Given the description of an element on the screen output the (x, y) to click on. 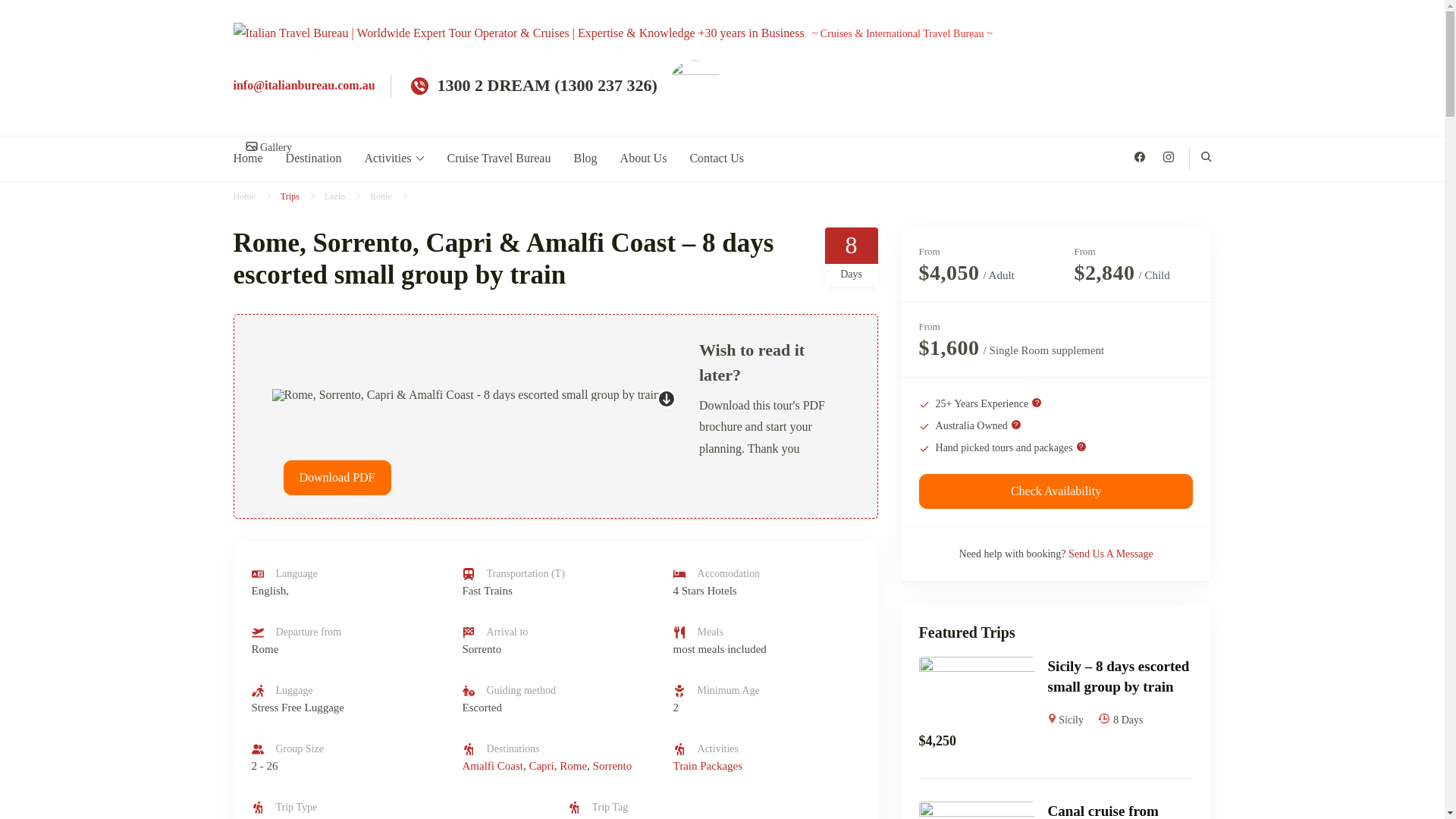
Sicily - 8 days escorted small group by train 2 (975, 691)
Destination (313, 158)
Activities (393, 158)
Canal cruise from Venice to Padua or viceversa 3 (975, 810)
